Given the description of an element on the screen output the (x, y) to click on. 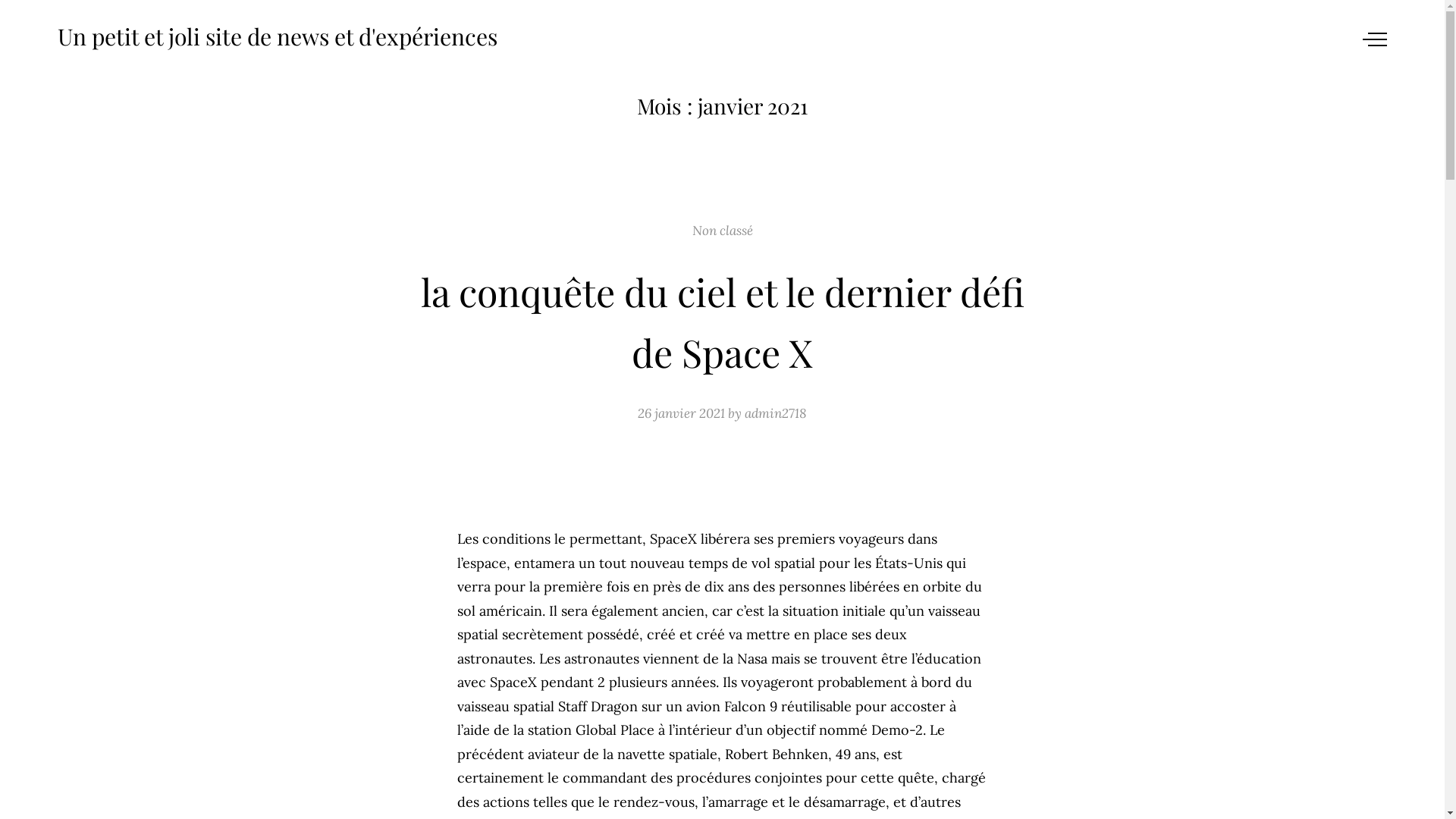
26 janvier 2021 Element type: text (680, 412)
admin2718 Element type: text (775, 412)
